Given the description of an element on the screen output the (x, y) to click on. 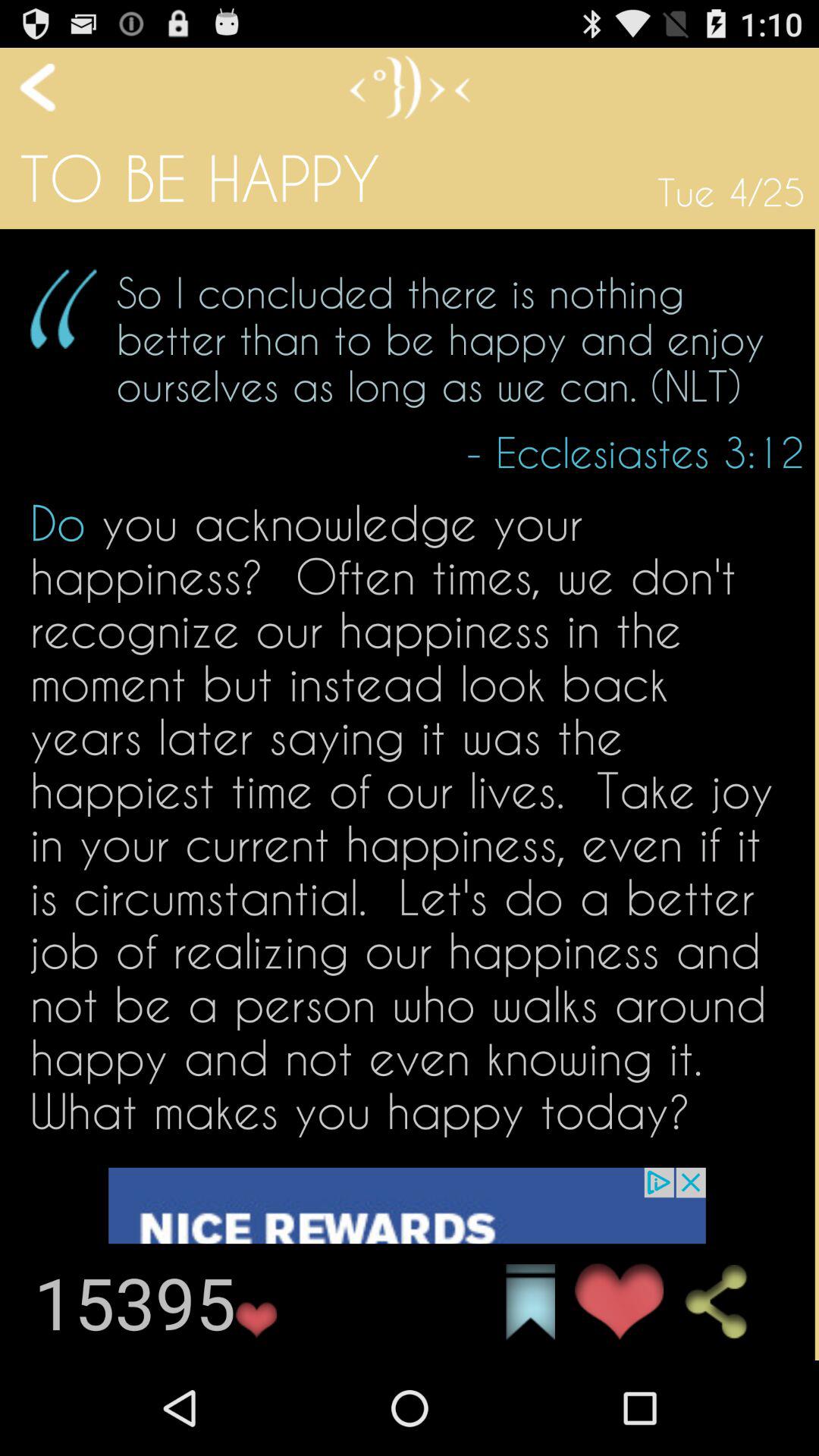
select the gallery (530, 1301)
